Given the description of an element on the screen output the (x, y) to click on. 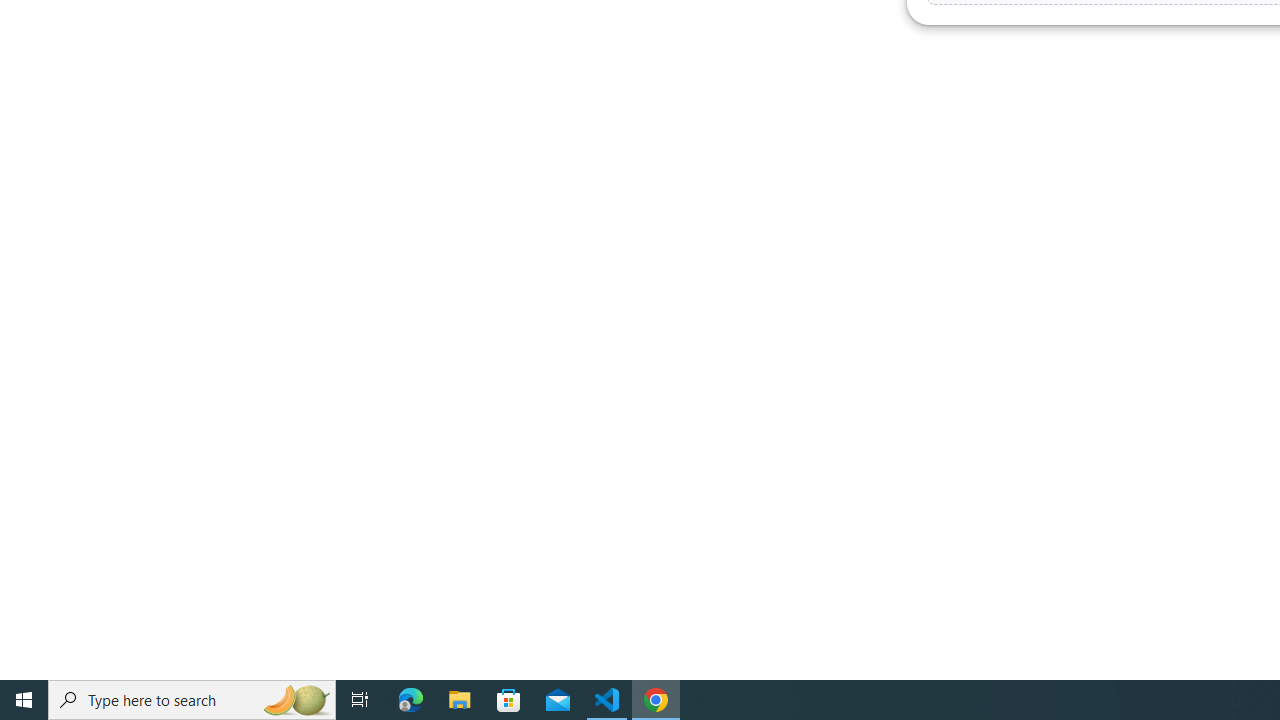
Microsoft Edge (411, 699)
Start (24, 699)
Task View (359, 699)
Search highlights icon opens search home window (295, 699)
Microsoft Store (509, 699)
Visual Studio Code - 1 running window (607, 699)
File Explorer (460, 699)
Type here to search (191, 699)
Google Chrome - 1 running window (656, 699)
